Given the description of an element on the screen output the (x, y) to click on. 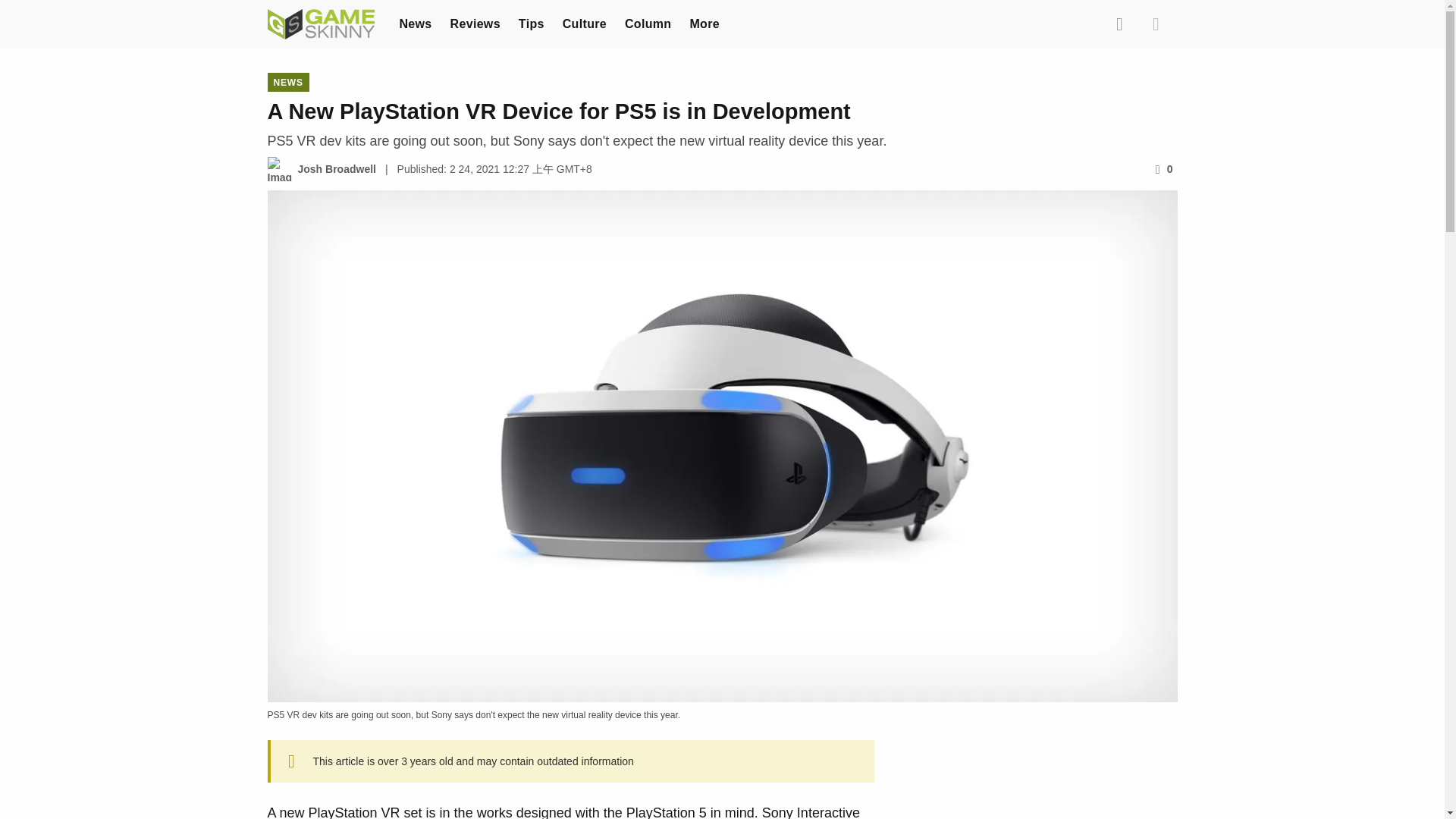
Search (1118, 24)
Column (647, 23)
Reviews (474, 23)
Dark Mode (1155, 24)
Tips (531, 23)
News (414, 23)
Culture (584, 23)
